Given the description of an element on the screen output the (x, y) to click on. 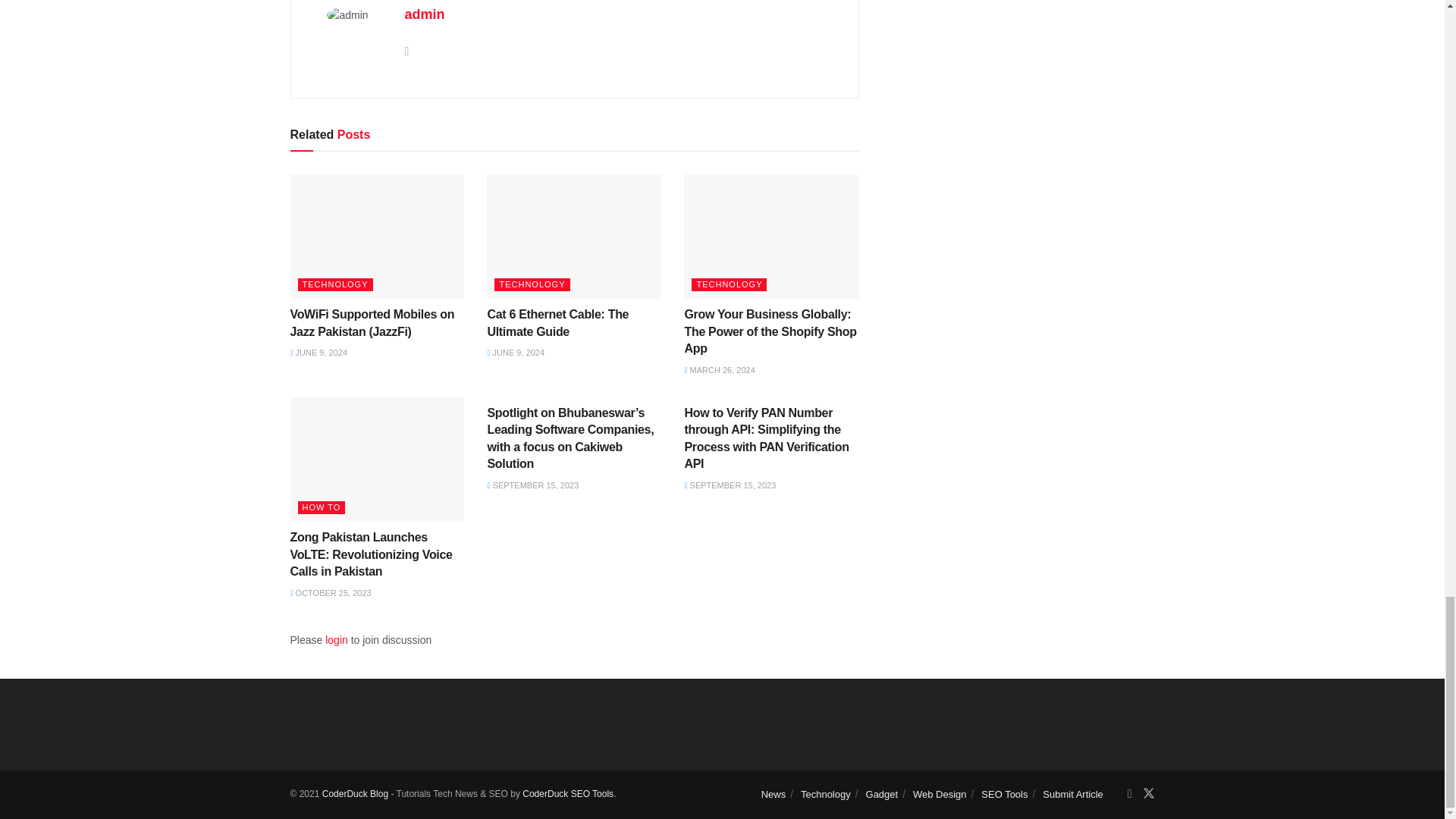
CoderDuck (567, 793)
